Given the description of an element on the screen output the (x, y) to click on. 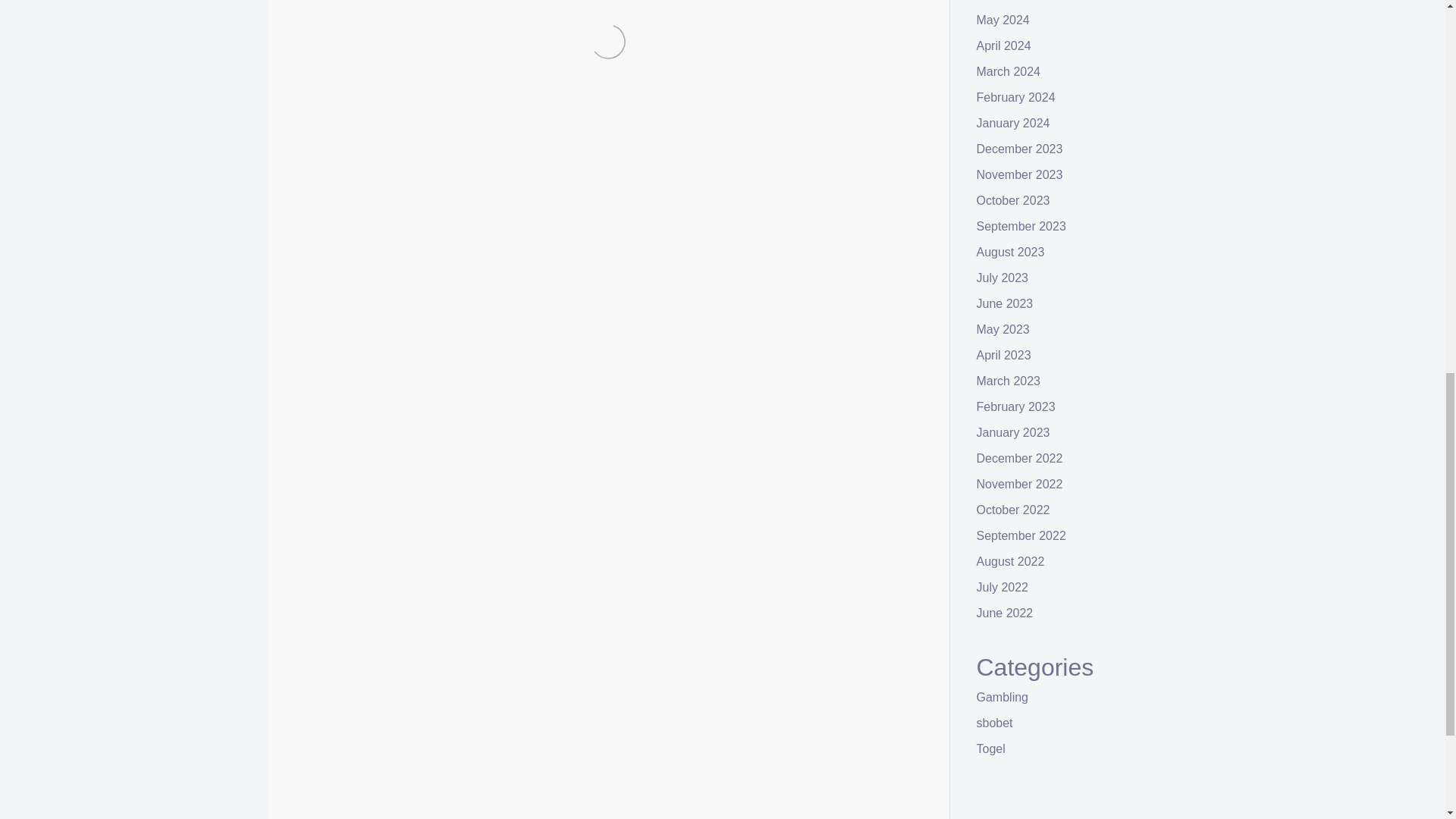
April 2024 (1003, 45)
May 2024 (1002, 19)
January 2024 (1012, 123)
December 2022 (1019, 458)
October 2023 (1012, 200)
November 2023 (1019, 174)
June 2023 (1004, 303)
March 2024 (1008, 71)
March 2023 (1008, 380)
September 2023 (1020, 226)
